Given the description of an element on the screen output the (x, y) to click on. 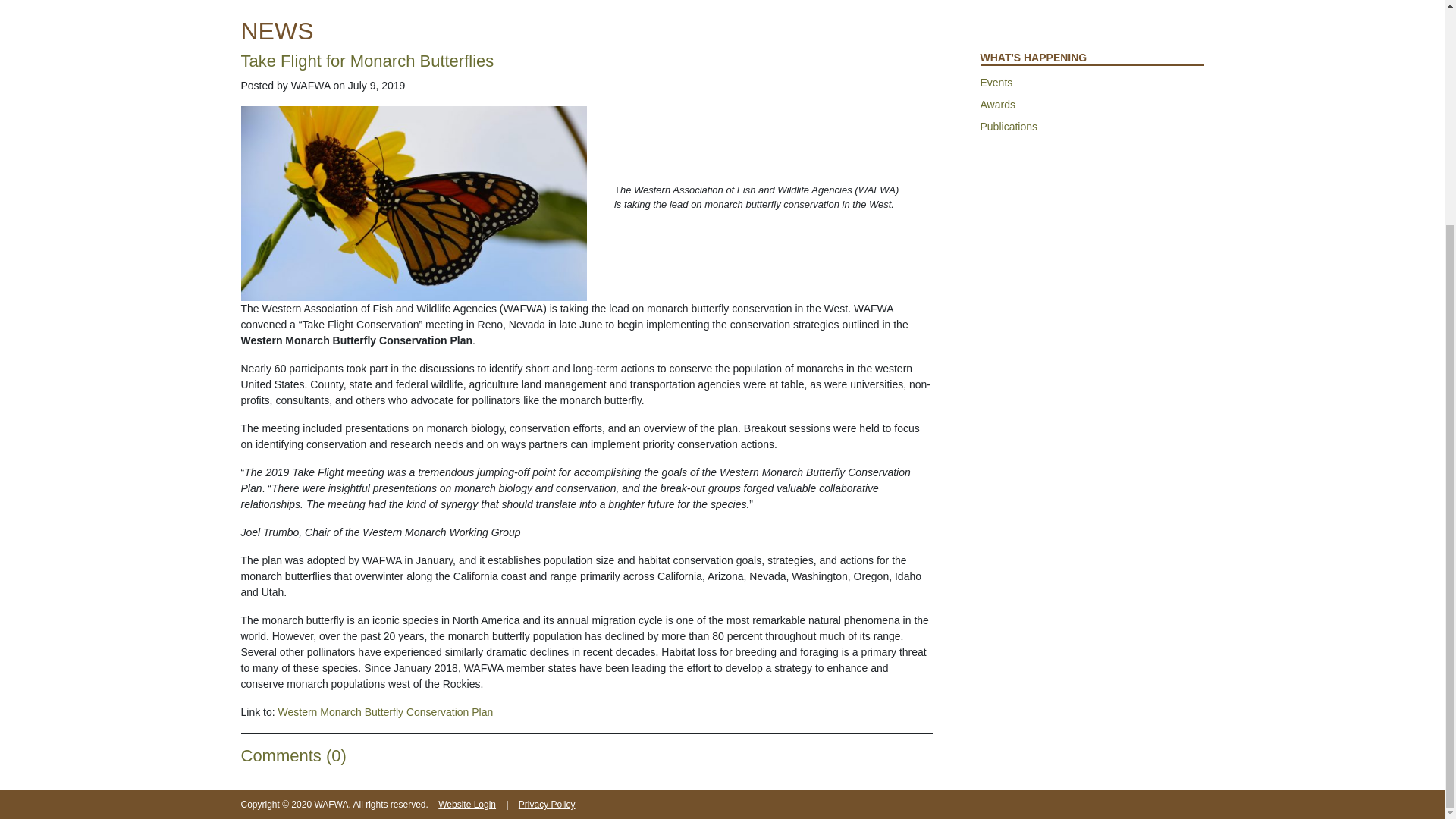
Western Monarch Butterfly Conservation Plan (385, 711)
Events (1091, 82)
Website Login (467, 804)
Privacy Policy (546, 804)
Awards (1091, 105)
Publications (1091, 126)
